Given the description of an element on the screen output the (x, y) to click on. 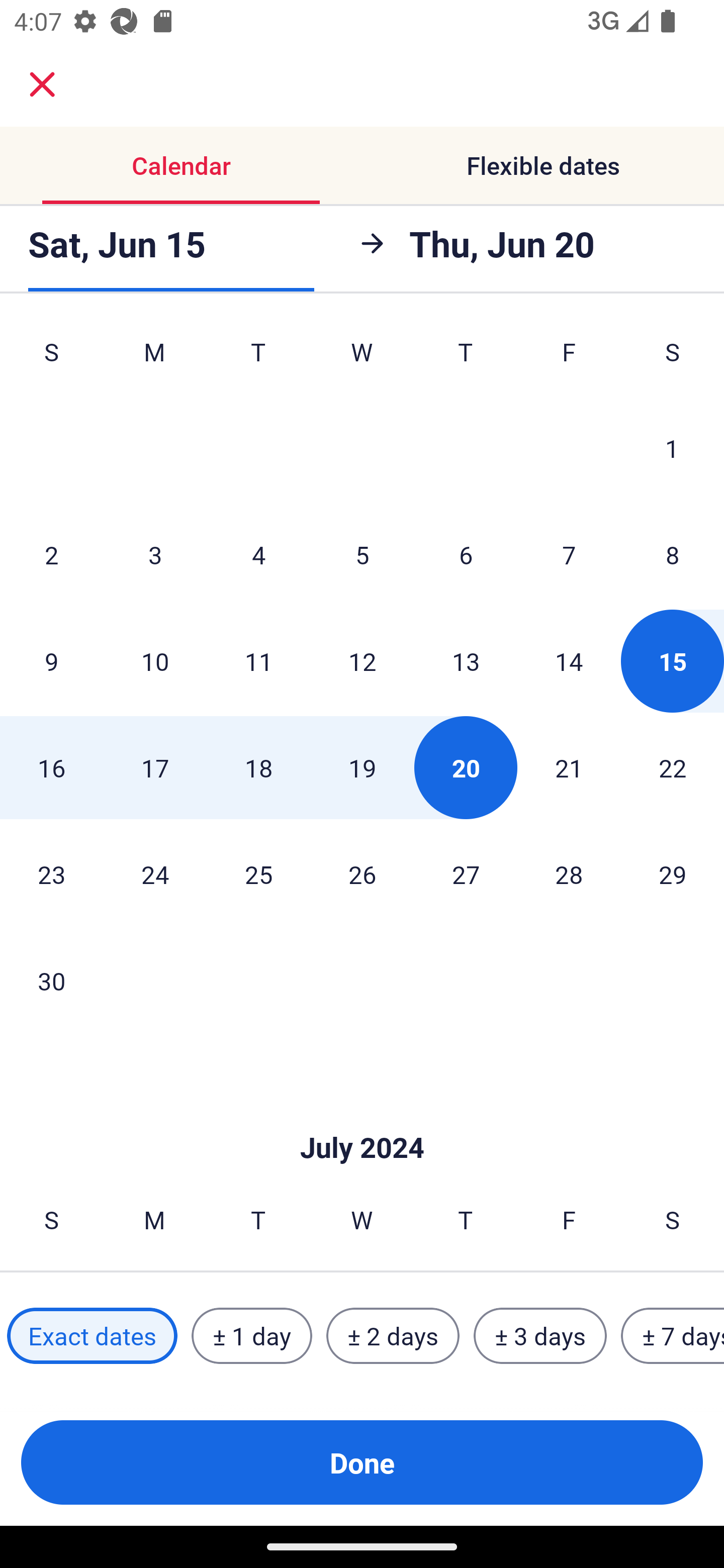
close. (42, 84)
Flexible dates (542, 164)
1 Saturday, June 1, 2024 (672, 448)
2 Sunday, June 2, 2024 (51, 554)
3 Monday, June 3, 2024 (155, 554)
4 Tuesday, June 4, 2024 (258, 554)
5 Wednesday, June 5, 2024 (362, 554)
6 Thursday, June 6, 2024 (465, 554)
7 Friday, June 7, 2024 (569, 554)
8 Saturday, June 8, 2024 (672, 554)
9 Sunday, June 9, 2024 (51, 660)
10 Monday, June 10, 2024 (155, 660)
11 Tuesday, June 11, 2024 (258, 660)
12 Wednesday, June 12, 2024 (362, 660)
13 Thursday, June 13, 2024 (465, 660)
14 Friday, June 14, 2024 (569, 660)
21 Friday, June 21, 2024 (569, 767)
22 Saturday, June 22, 2024 (672, 767)
23 Sunday, June 23, 2024 (51, 874)
24 Monday, June 24, 2024 (155, 874)
25 Tuesday, June 25, 2024 (258, 874)
26 Wednesday, June 26, 2024 (362, 874)
27 Thursday, June 27, 2024 (465, 874)
28 Friday, June 28, 2024 (569, 874)
29 Saturday, June 29, 2024 (672, 874)
30 Sunday, June 30, 2024 (51, 980)
Skip to Done (362, 1117)
Exact dates (92, 1335)
± 1 day (251, 1335)
± 2 days (392, 1335)
± 3 days (539, 1335)
± 7 days (672, 1335)
Done (361, 1462)
